Given the description of an element on the screen output the (x, y) to click on. 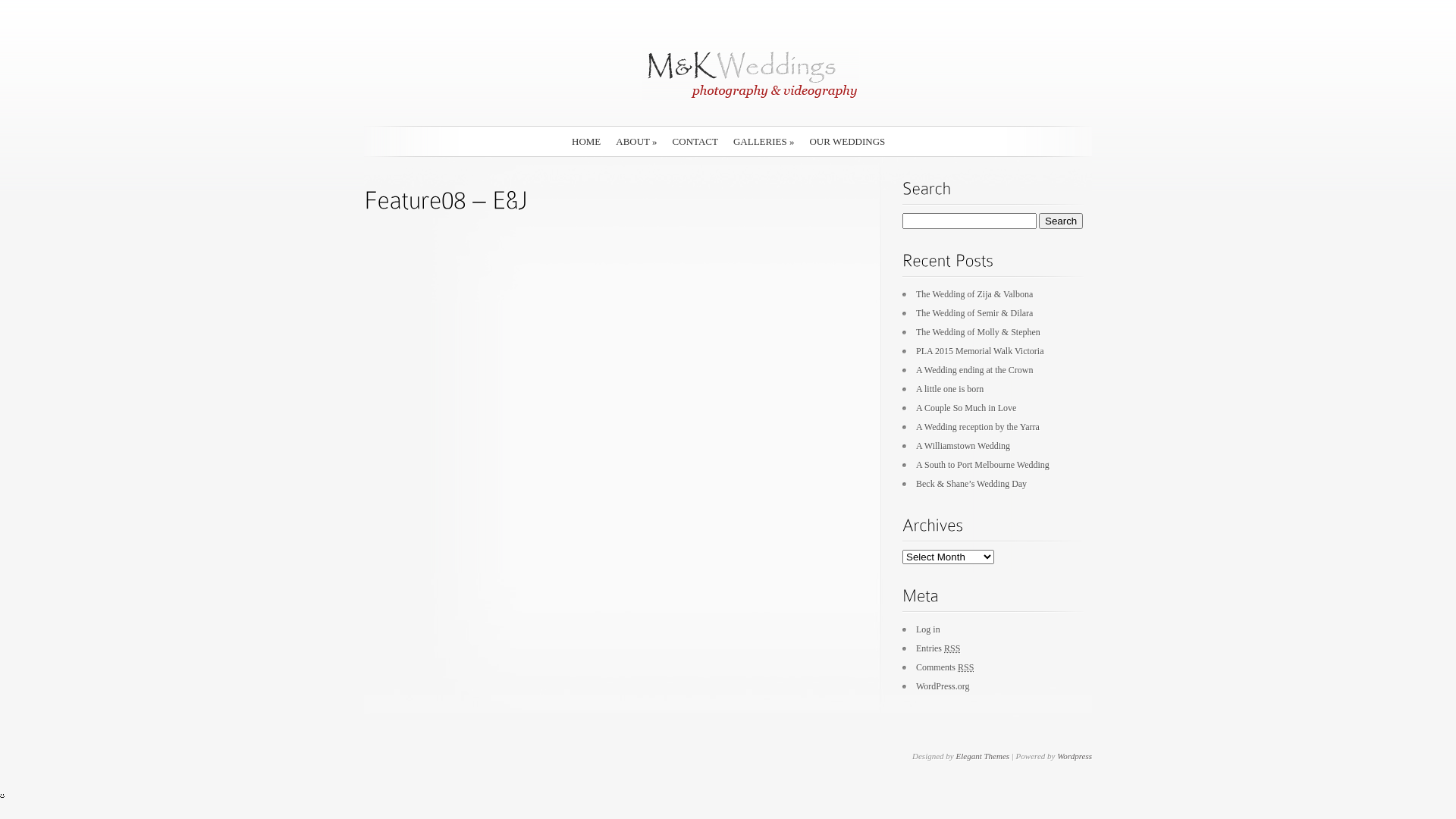
A Couple So Much in Love Element type: text (966, 407)
CONTACT Element type: text (695, 141)
The Wedding of Zija & Valbona Element type: text (974, 293)
WordPress.org Element type: text (942, 685)
A Wedding reception by the Yarra Element type: text (977, 426)
Entries RSS Element type: text (938, 648)
A Williamstown Wedding Element type: text (963, 445)
Log in Element type: text (928, 629)
A South to Port Melbourne Wedding Element type: text (982, 464)
Comments RSS Element type: text (944, 667)
A Wedding ending at the Crown Element type: text (974, 369)
A little one is born Element type: text (949, 388)
Search Element type: text (1060, 221)
HOME Element type: text (585, 141)
Wordpress Element type: text (1074, 755)
OUR WEDDINGS Element type: text (846, 141)
PLA 2015 Memorial Walk Victoria Element type: text (980, 350)
The Wedding of Semir & Dilara Element type: text (974, 312)
The Wedding of Molly & Stephen Element type: text (978, 331)
Elegant Themes Element type: text (982, 755)
